Given the description of an element on the screen output the (x, y) to click on. 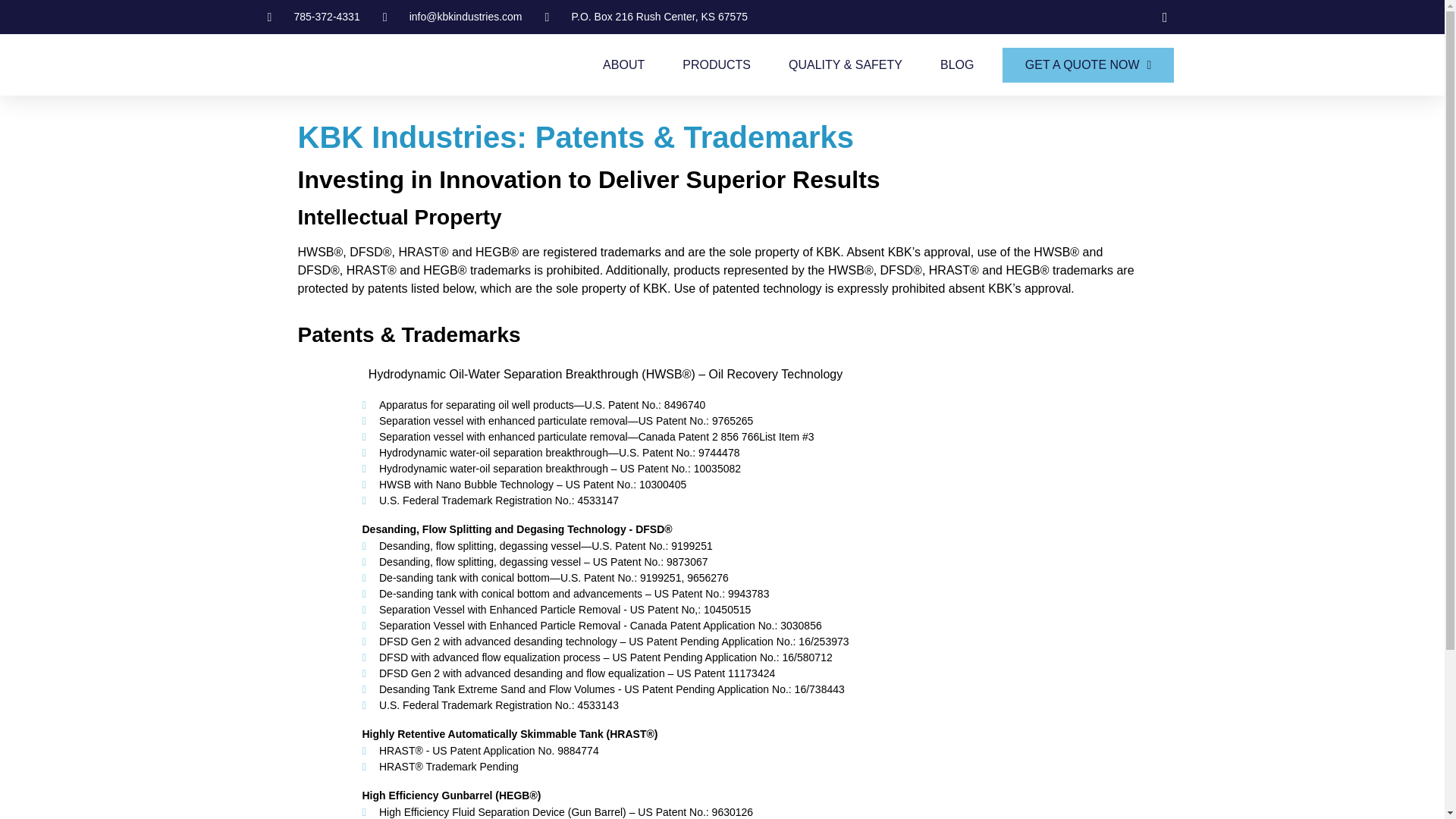
785-372-4331 (312, 17)
BLOG (957, 64)
ABOUT (623, 64)
PRODUCTS (716, 64)
